Given the description of an element on the screen output the (x, y) to click on. 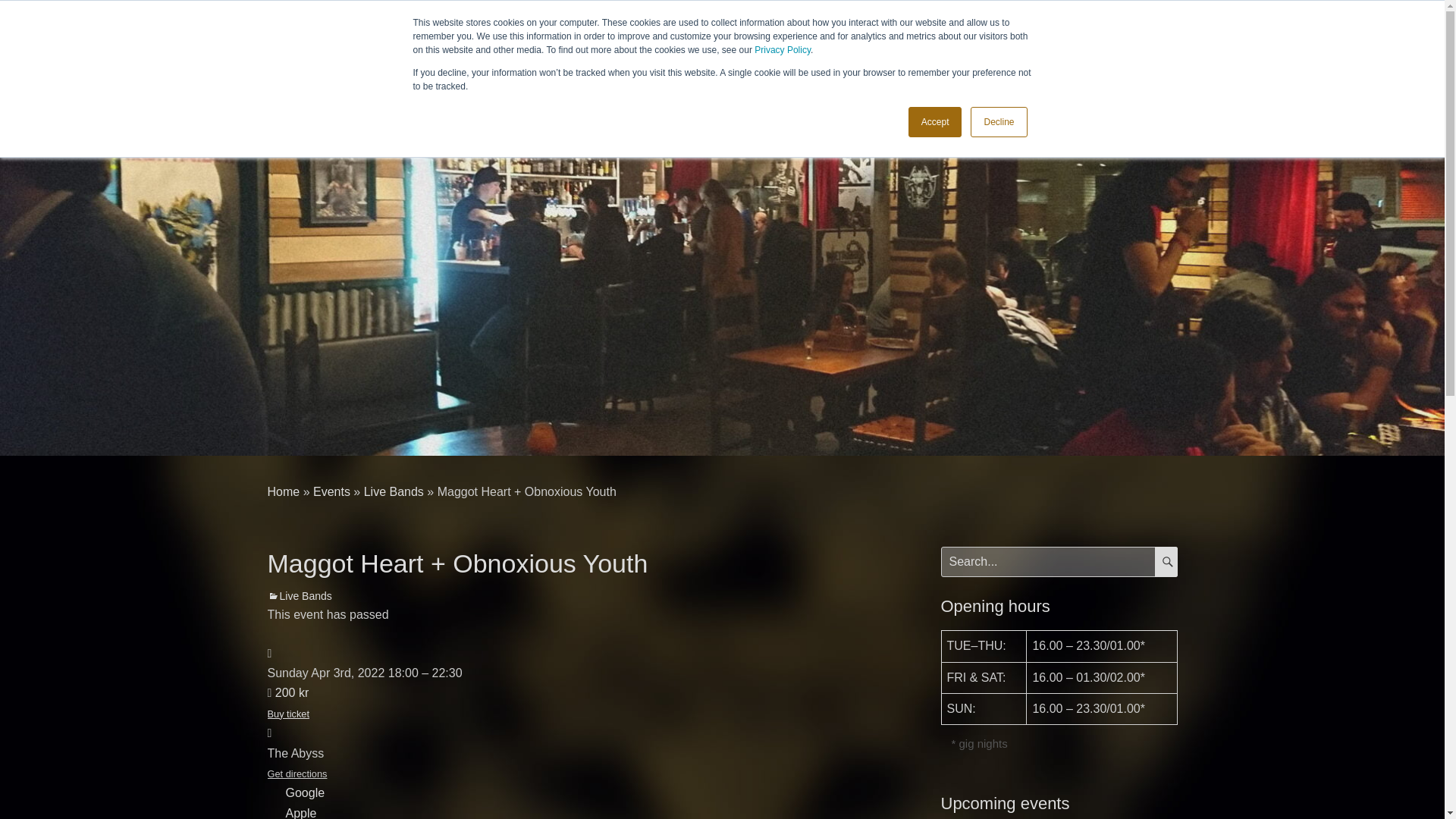
Find venue on Apple Maps (300, 812)
Events (799, 35)
Contact (1011, 35)
Buy Ticket (287, 702)
Google (304, 792)
Apple (300, 812)
Decline (998, 122)
Live Bands (298, 595)
Events (331, 491)
Home (282, 491)
